Given the description of an element on the screen output the (x, y) to click on. 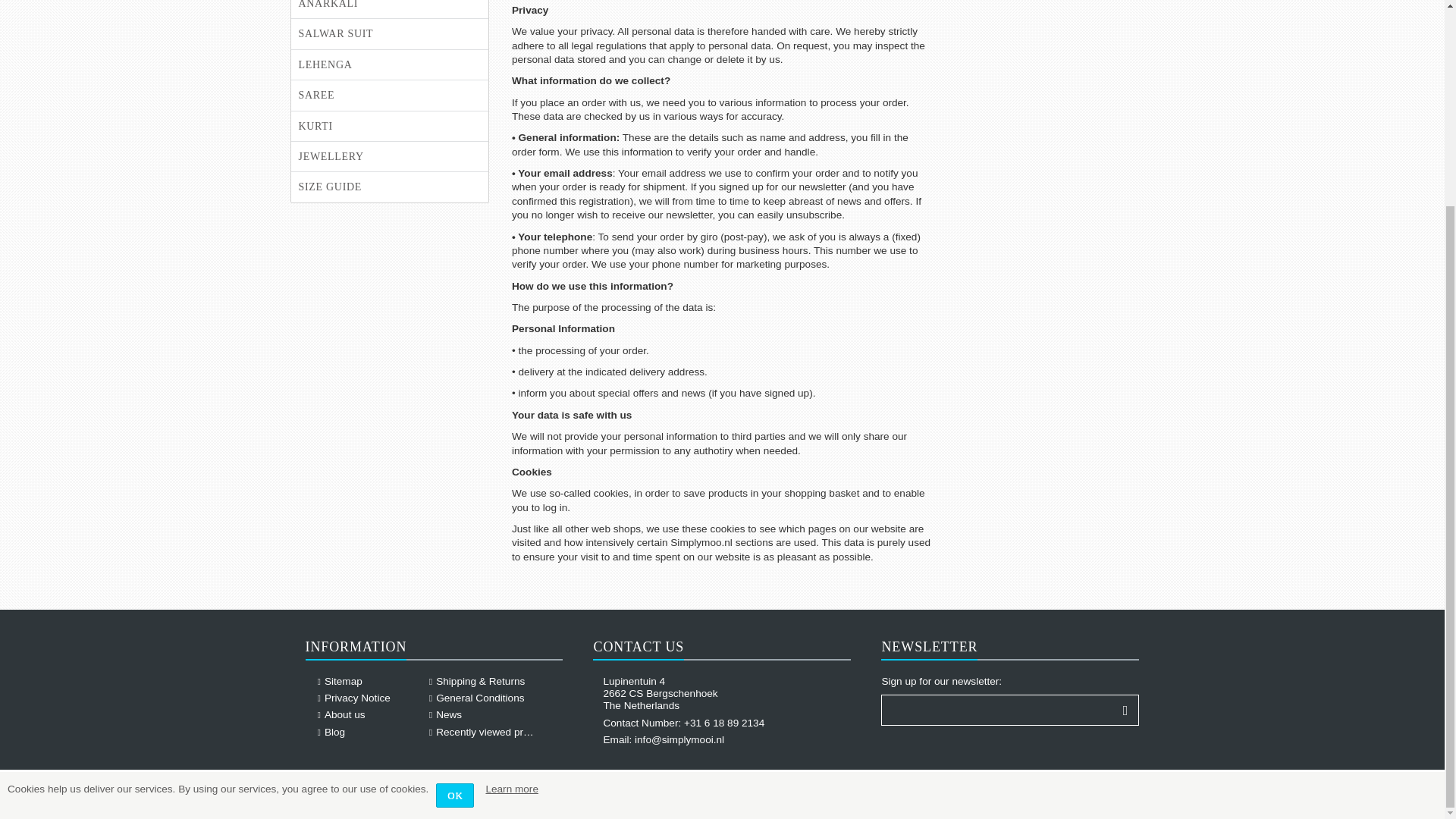
General Conditions (479, 697)
Sitemap (343, 681)
News (448, 714)
Privacy Notice (357, 697)
Blog (334, 731)
About us (344, 714)
Recently viewed products (494, 731)
